Given the description of an element on the screen output the (x, y) to click on. 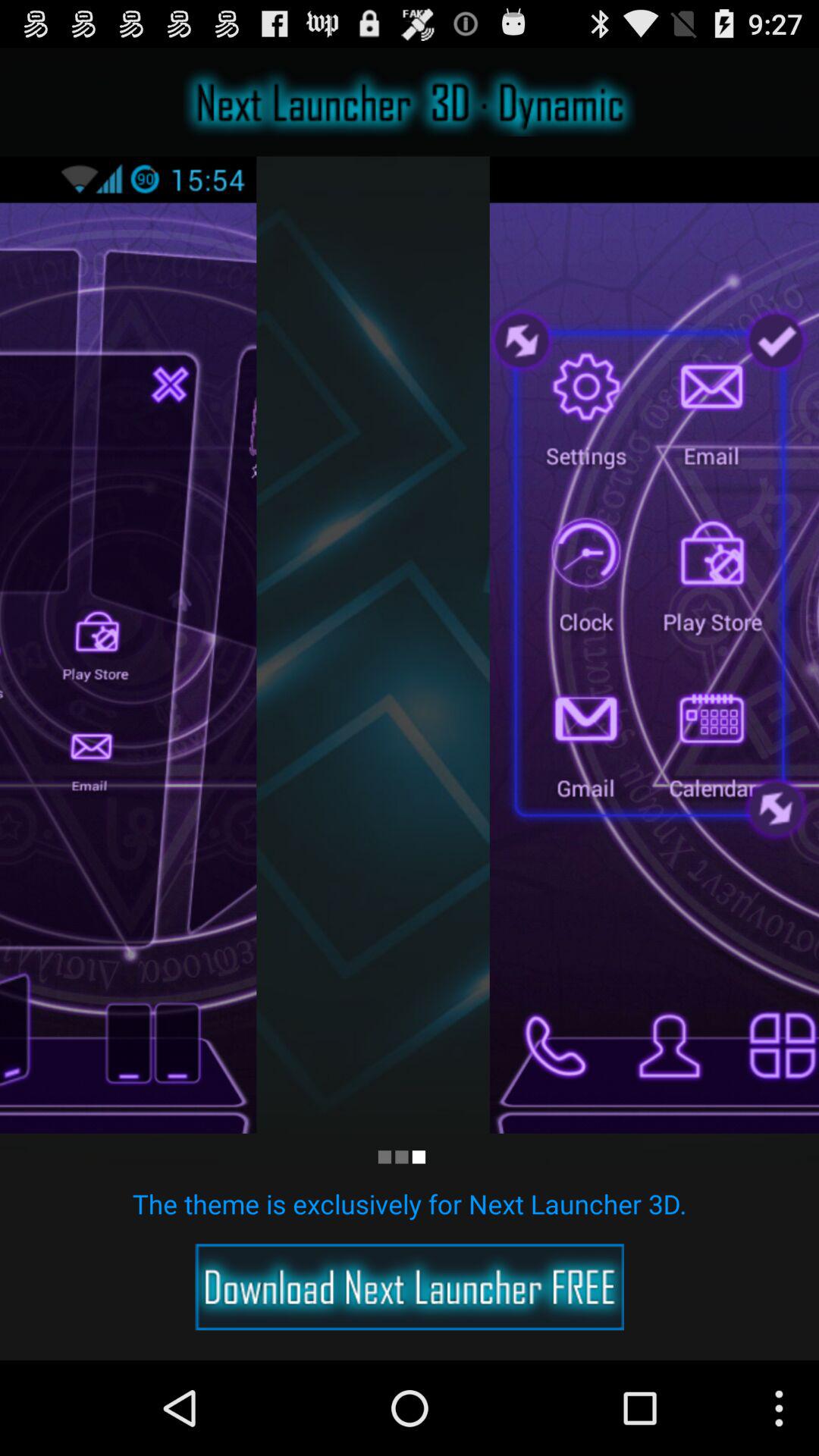
download app (409, 1286)
